Given the description of an element on the screen output the (x, y) to click on. 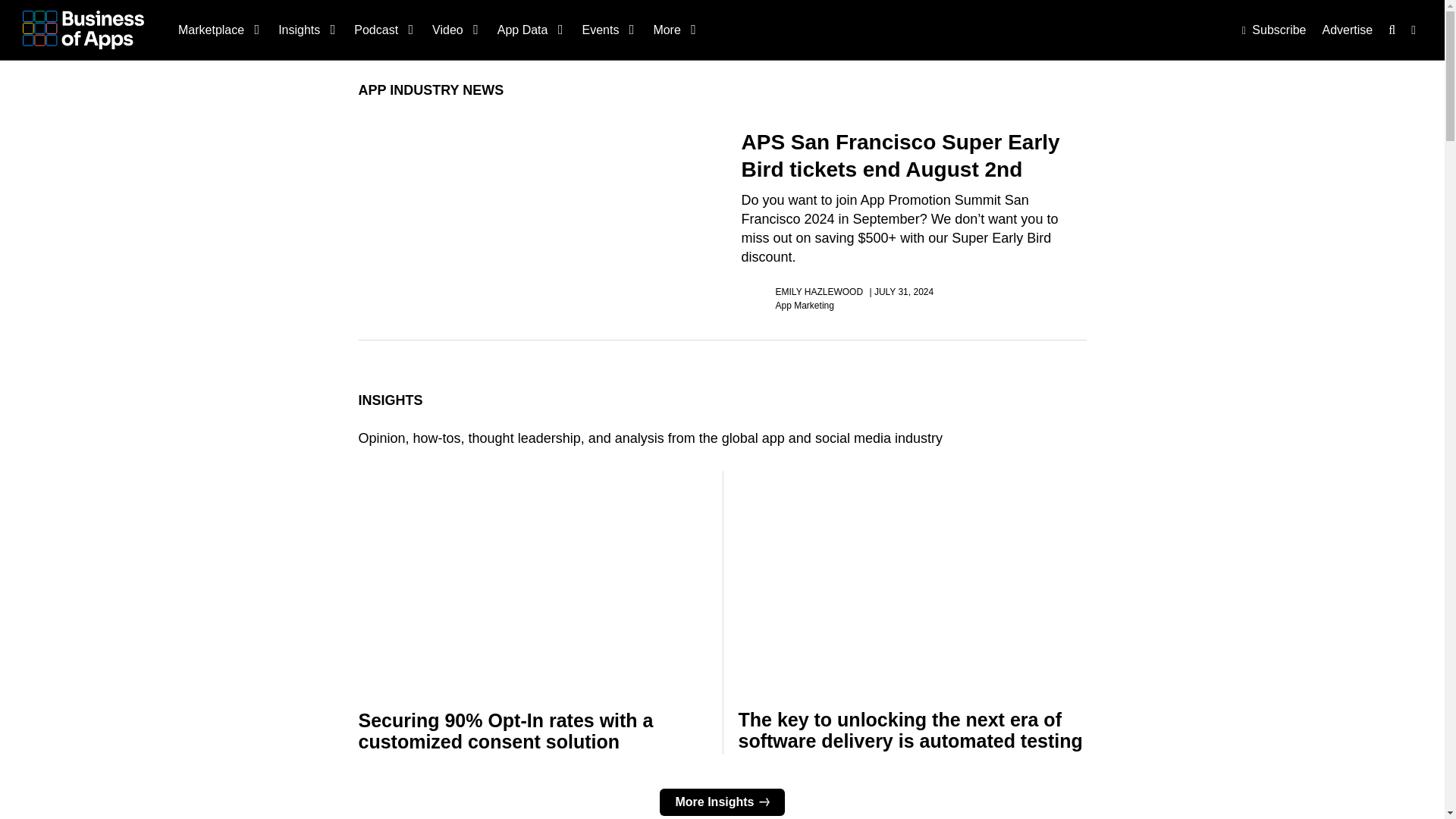
Marketplace (216, 29)
